Given the description of an element on the screen output the (x, y) to click on. 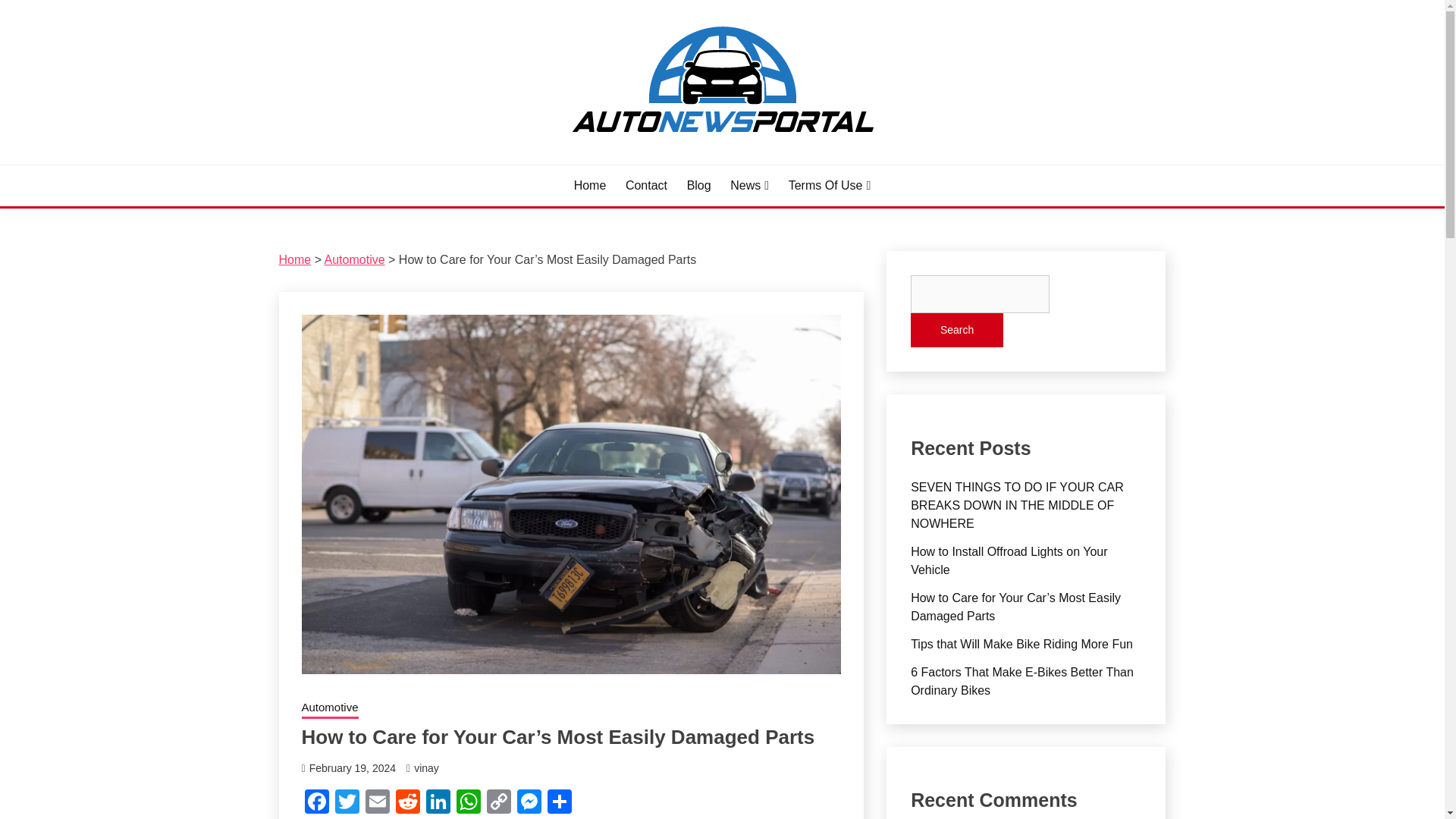
AUTO NEWS PORTAL (424, 162)
Messenger (528, 803)
WhatsApp (467, 803)
Facebook (316, 803)
Twitter (346, 803)
WhatsApp (467, 803)
LinkedIn (437, 803)
February 19, 2024 (352, 767)
Blog (699, 185)
LinkedIn (437, 803)
